Given the description of an element on the screen output the (x, y) to click on. 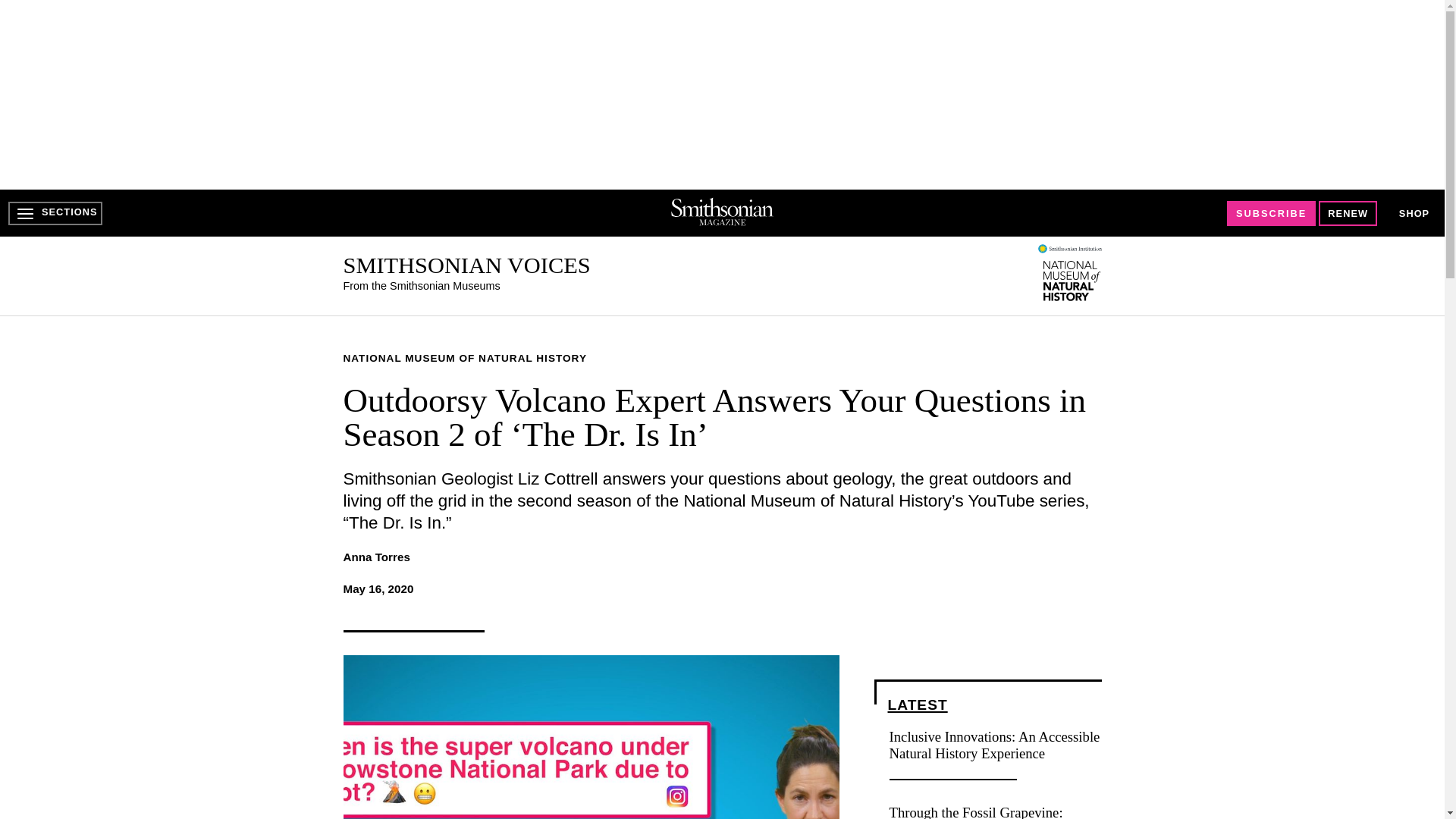
SHOP (1414, 213)
RENEW (1347, 212)
SECTIONS (55, 213)
SUBSCRIBE (1271, 213)
SHOP (1413, 212)
RENEW (1348, 213)
SUBSCRIBE (1271, 212)
